Given the description of an element on the screen output the (x, y) to click on. 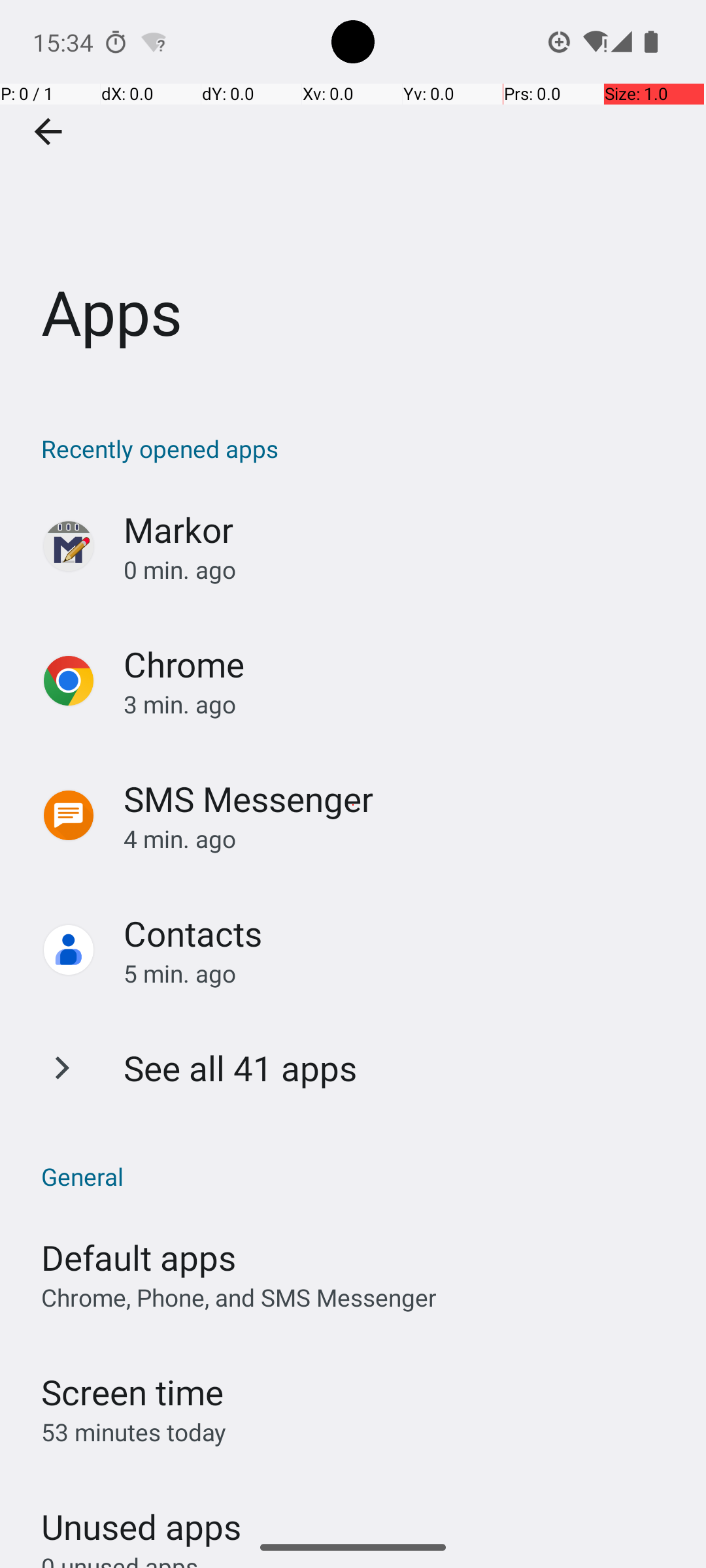
4 min. ago Element type: android.widget.TextView (400, 838)
5 min. ago Element type: android.widget.TextView (400, 972)
53 minutes today Element type: android.widget.TextView (133, 1431)
